Given the description of an element on the screen output the (x, y) to click on. 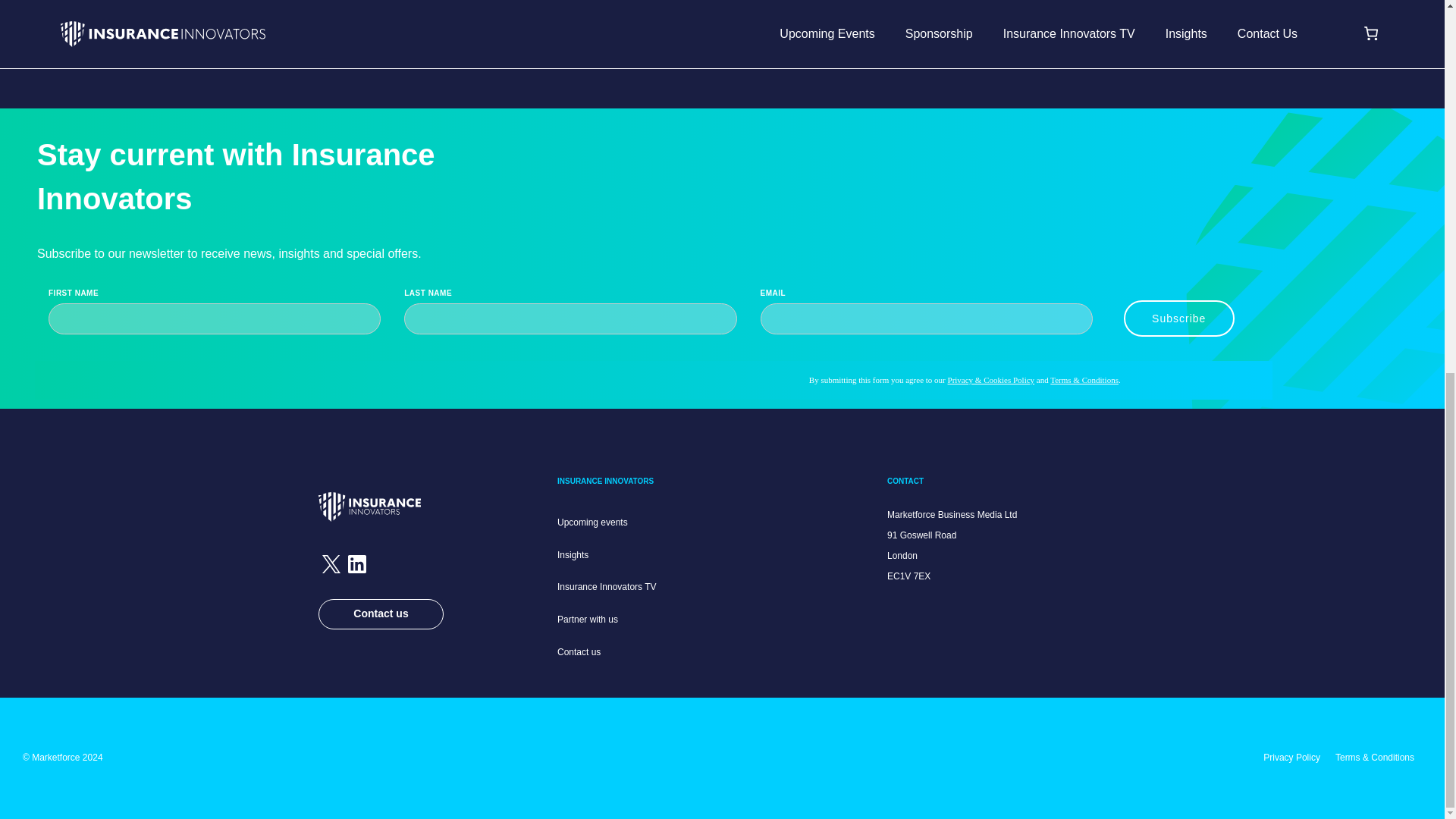
Contact us (381, 613)
Insights (572, 554)
Contact us (578, 652)
Insurance Innovators TV (606, 586)
Privacy Policy (1291, 757)
Partner with us (587, 619)
Upcoming events (592, 521)
